Given the description of an element on the screen output the (x, y) to click on. 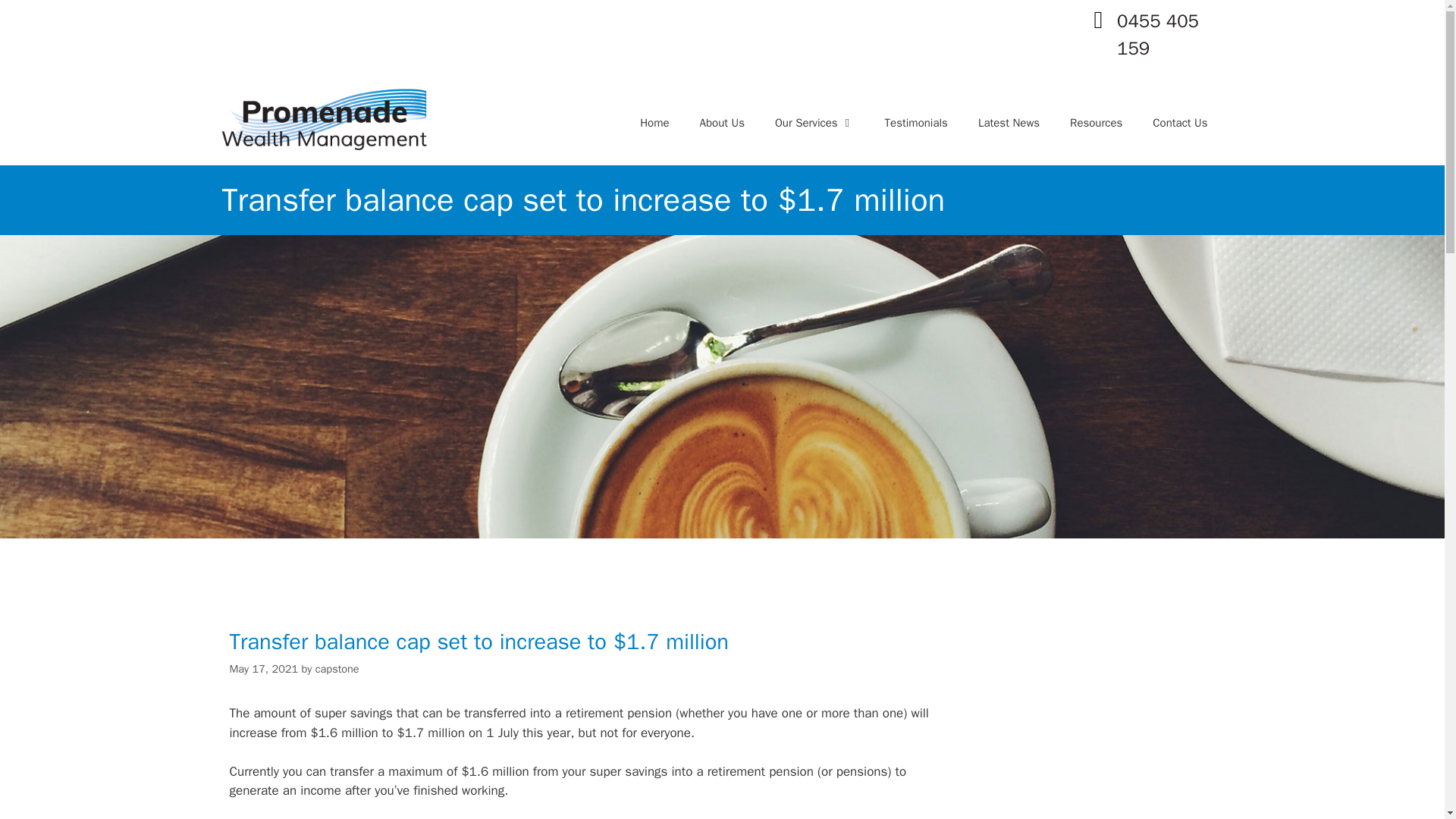
Latest News (1008, 122)
Home (654, 122)
About Us (722, 122)
View all posts by capstone (337, 668)
Contact Us (1180, 122)
0455 405 159 (1157, 34)
capstone (337, 668)
Our Services (814, 122)
Resources (1095, 122)
Testimonials (915, 122)
